Given the description of an element on the screen output the (x, y) to click on. 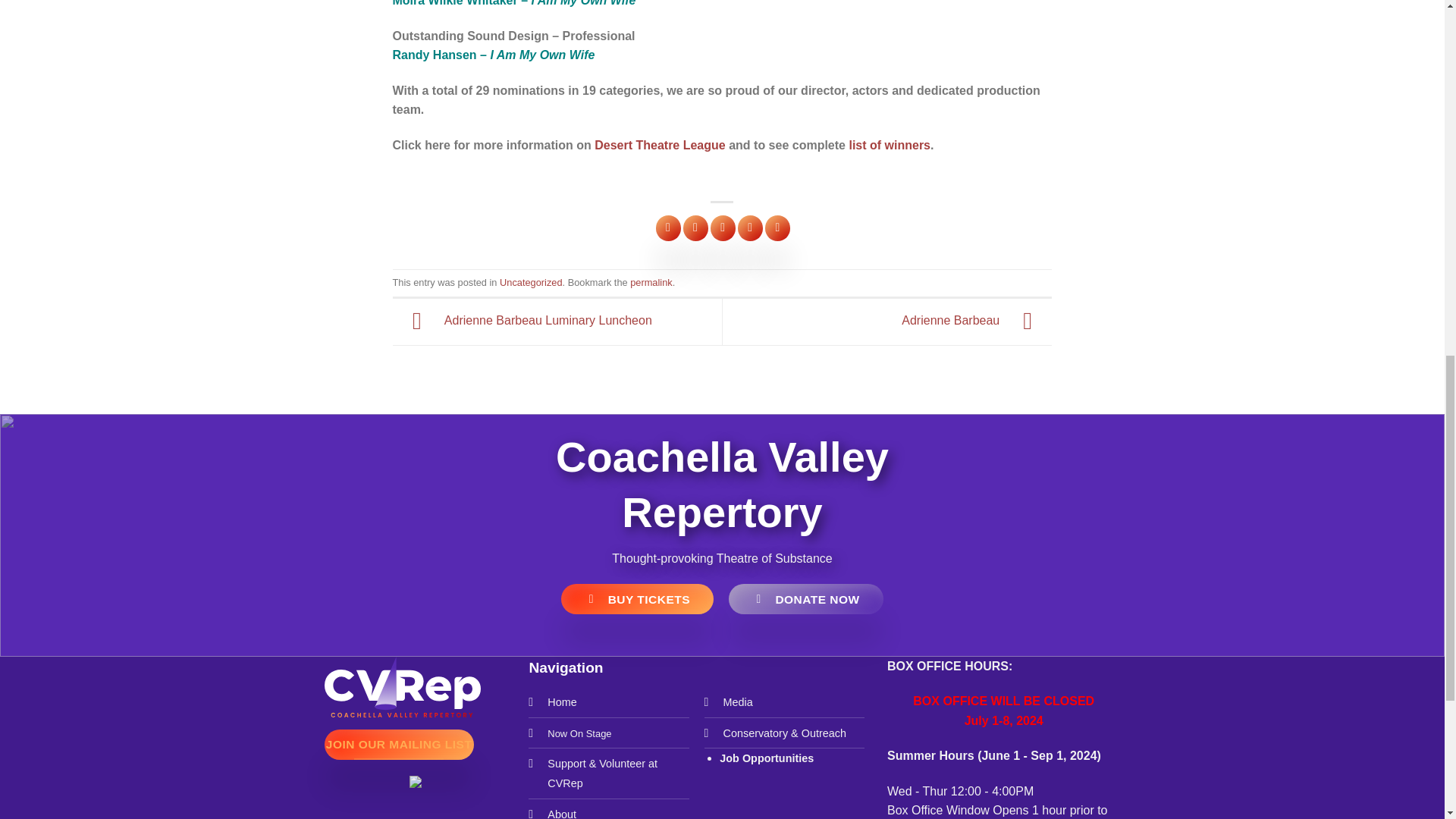
Job Opportunities (766, 757)
Permalink to CVRep Wins Eight Desert Star Awards (650, 282)
Desert Theatre League (659, 144)
Share on Facebook (668, 227)
Email to a Friend (722, 227)
JOIN OUR MAILING LIST (399, 744)
Adrienne Barbeau Luminary Luncheon (522, 320)
Share on Twitter (694, 227)
DONATE NOW (806, 598)
About (561, 813)
